Given the description of an element on the screen output the (x, y) to click on. 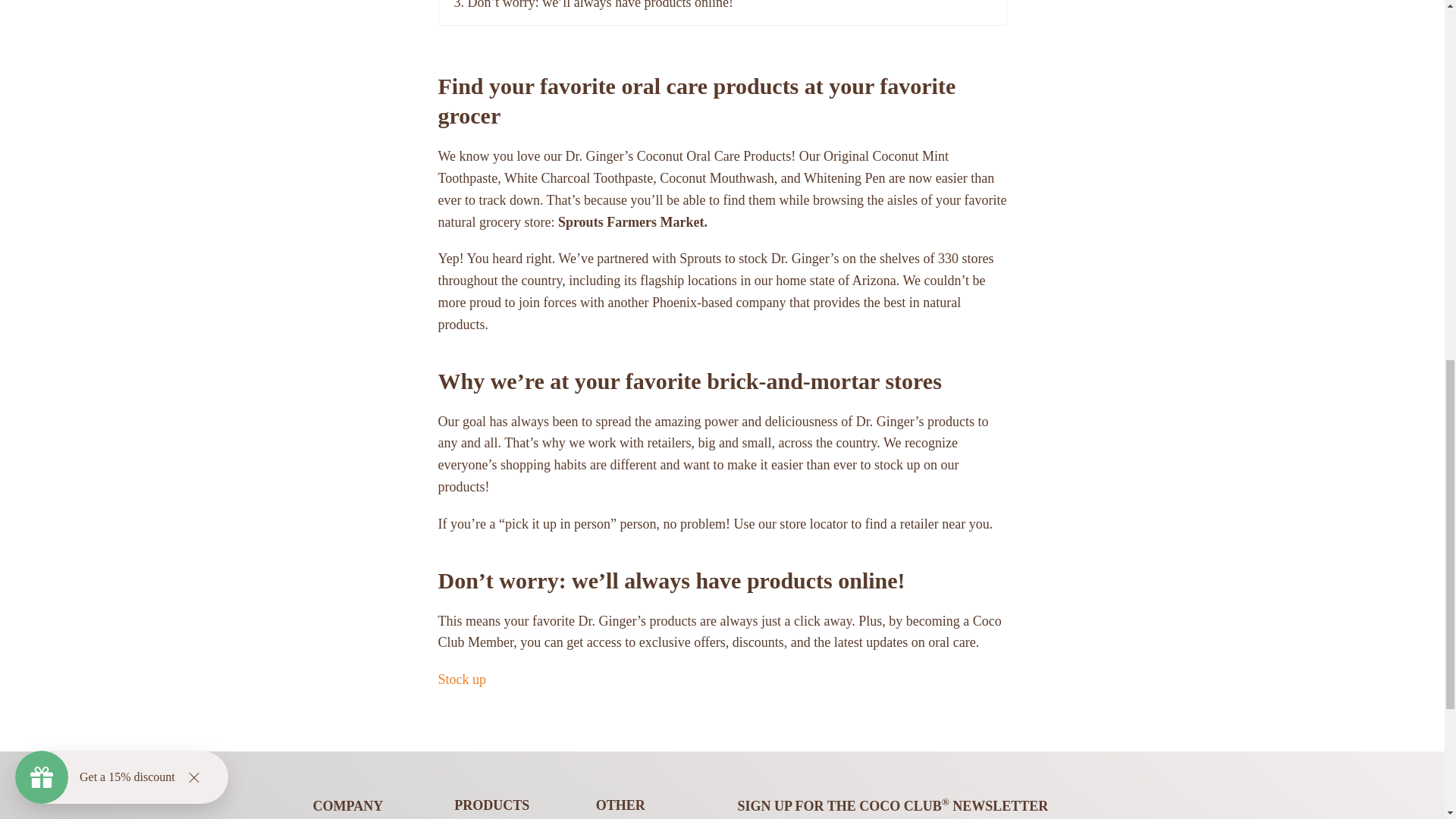
Stock up (462, 679)
